Given the description of an element on the screen output the (x, y) to click on. 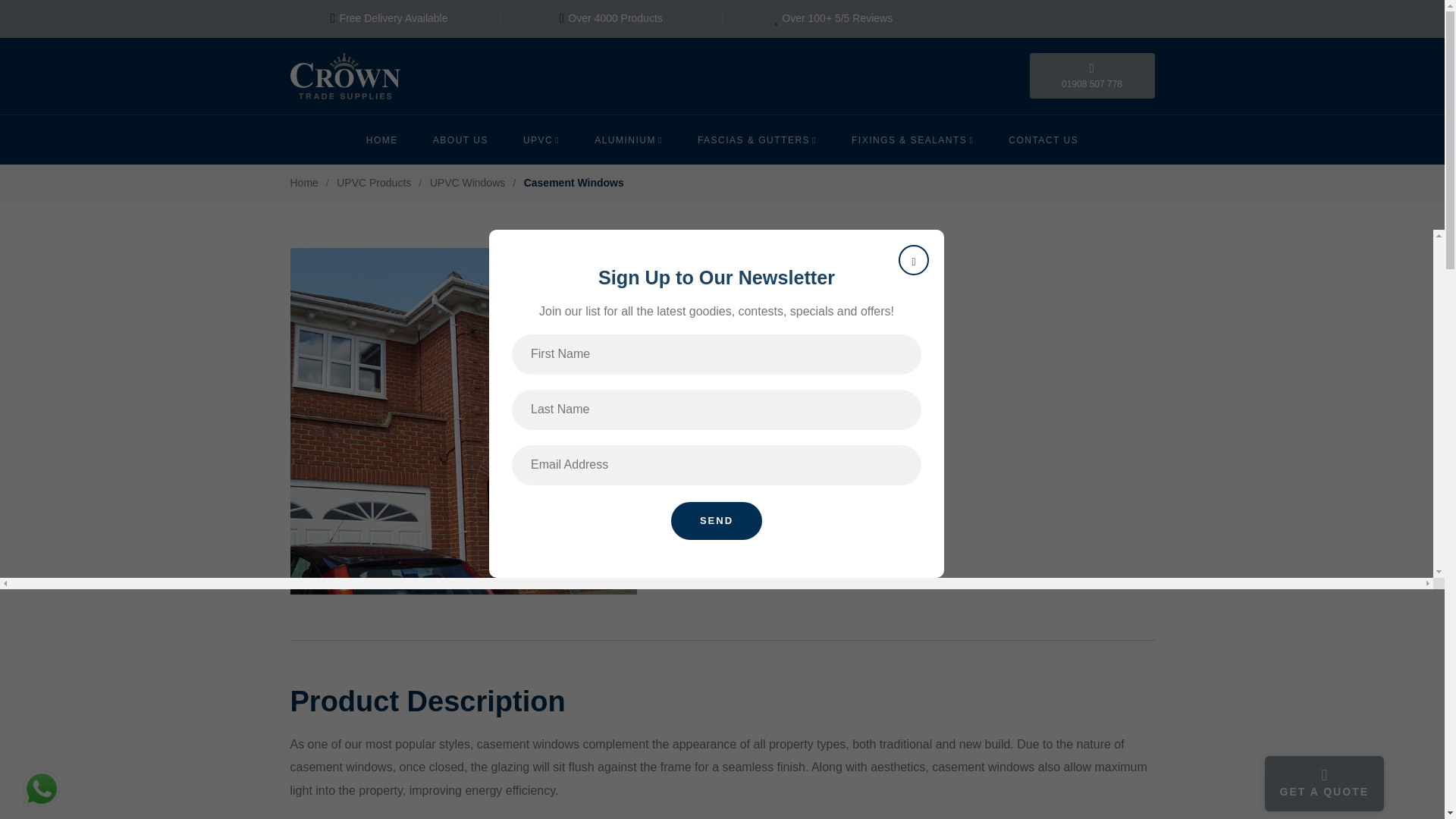
01908 507 778 (1091, 75)
Crown Trade Supplies (390, 140)
HOME (390, 140)
About Us (459, 140)
Call Us (1091, 75)
ALUMINIUM (627, 140)
ABOUT US (459, 140)
Send (716, 521)
Crown Trade Supplies (343, 76)
UPVC (540, 140)
UPVC (540, 140)
